Given the description of an element on the screen output the (x, y) to click on. 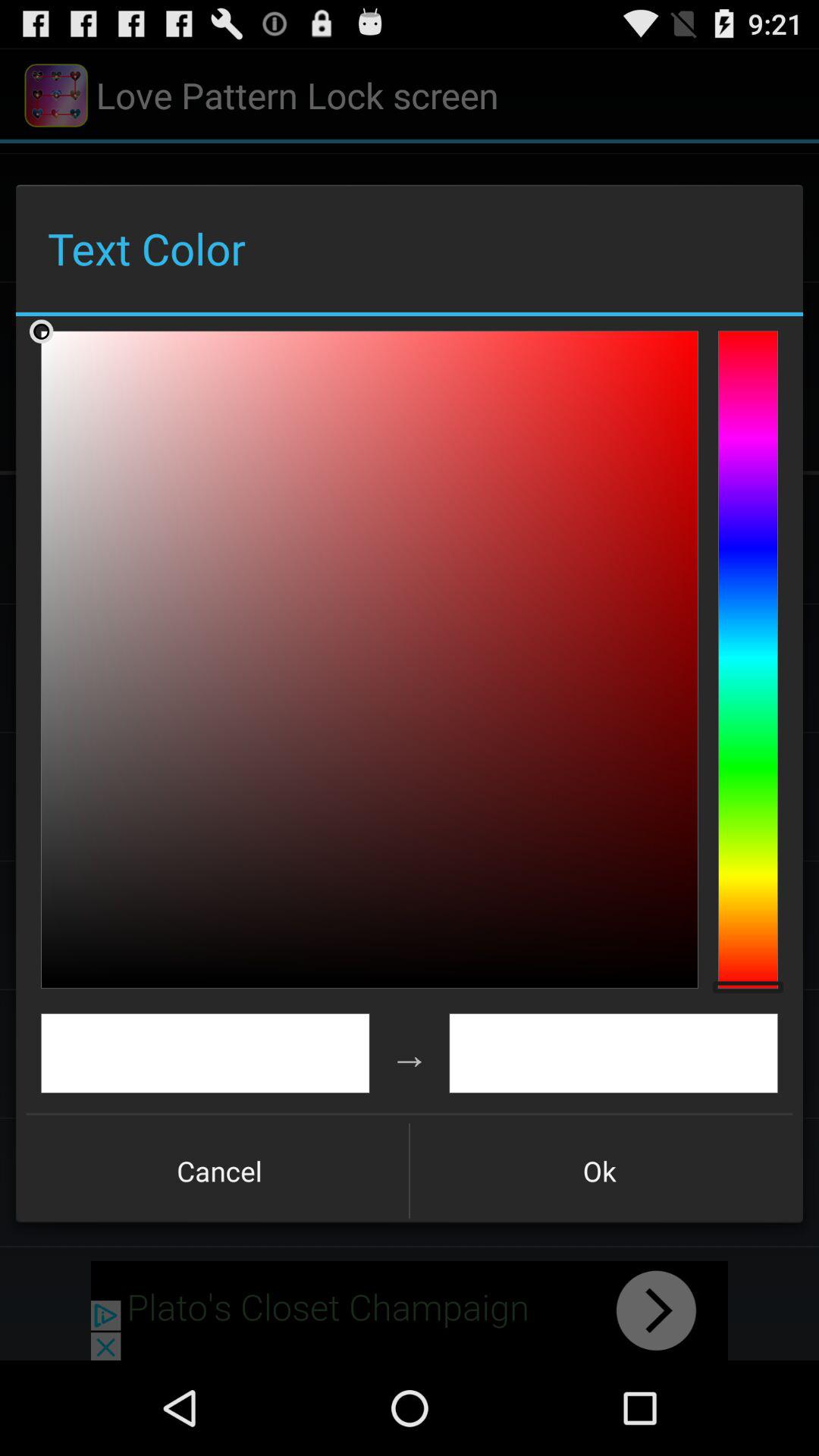
swipe until the cancel button (219, 1170)
